Given the description of an element on the screen output the (x, y) to click on. 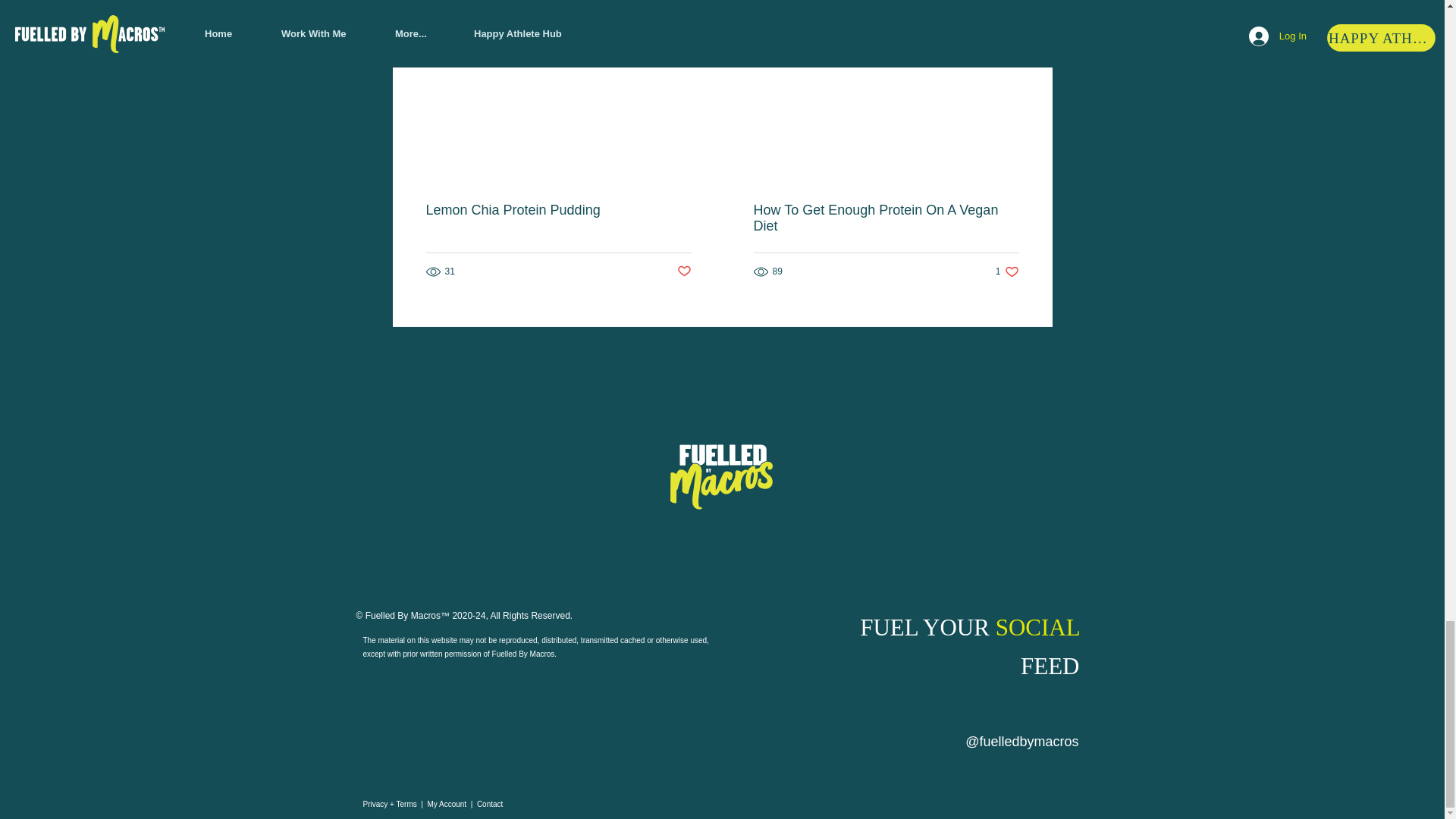
Contact (489, 804)
How To Get Enough Protein On A Vegan Diet (886, 218)
Post not marked as liked (683, 271)
Lemon Chia Protein Pudding (558, 210)
My Account (1007, 271)
